Given the description of an element on the screen output the (x, y) to click on. 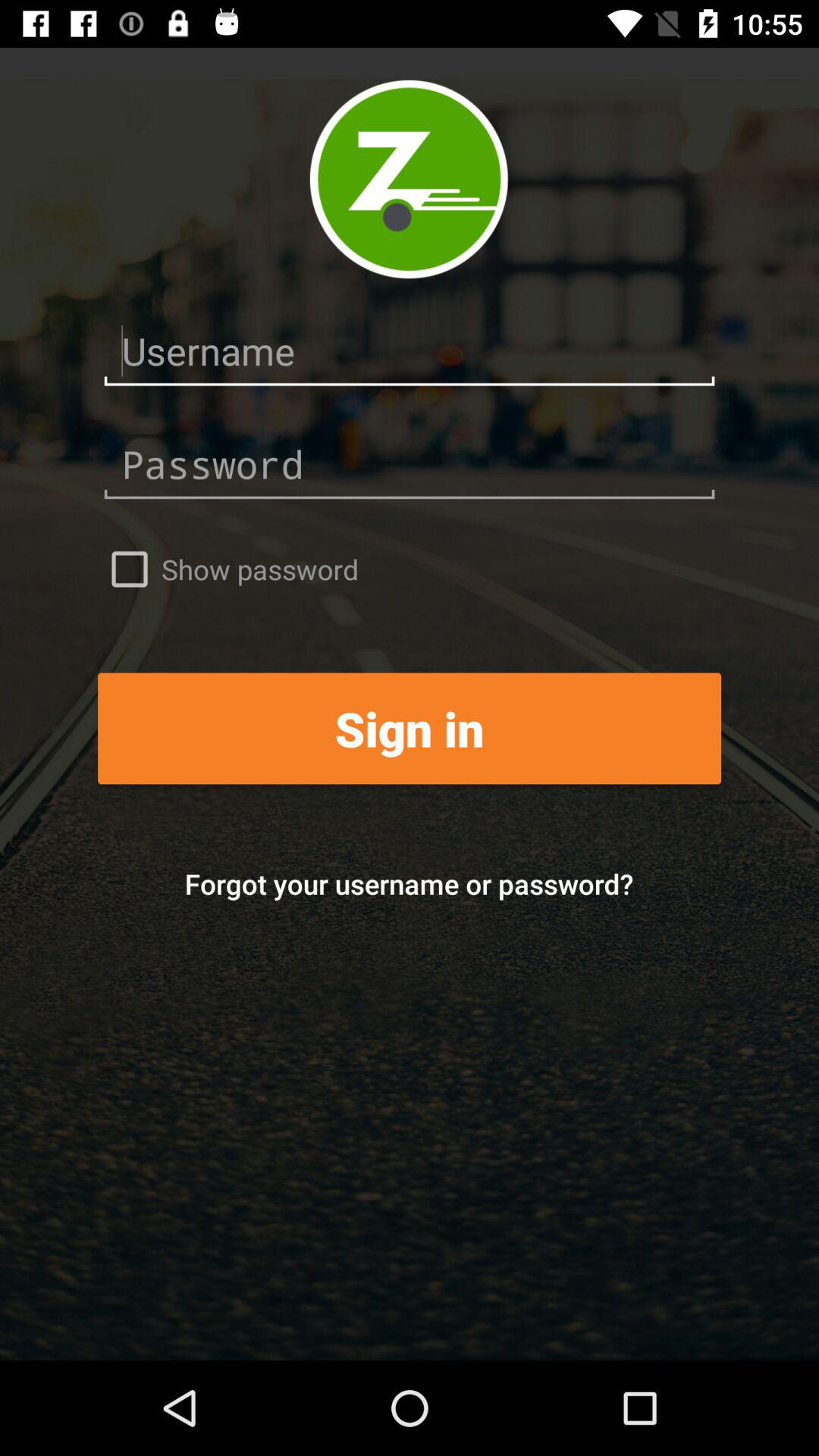
password entry (409, 464)
